Given the description of an element on the screen output the (x, y) to click on. 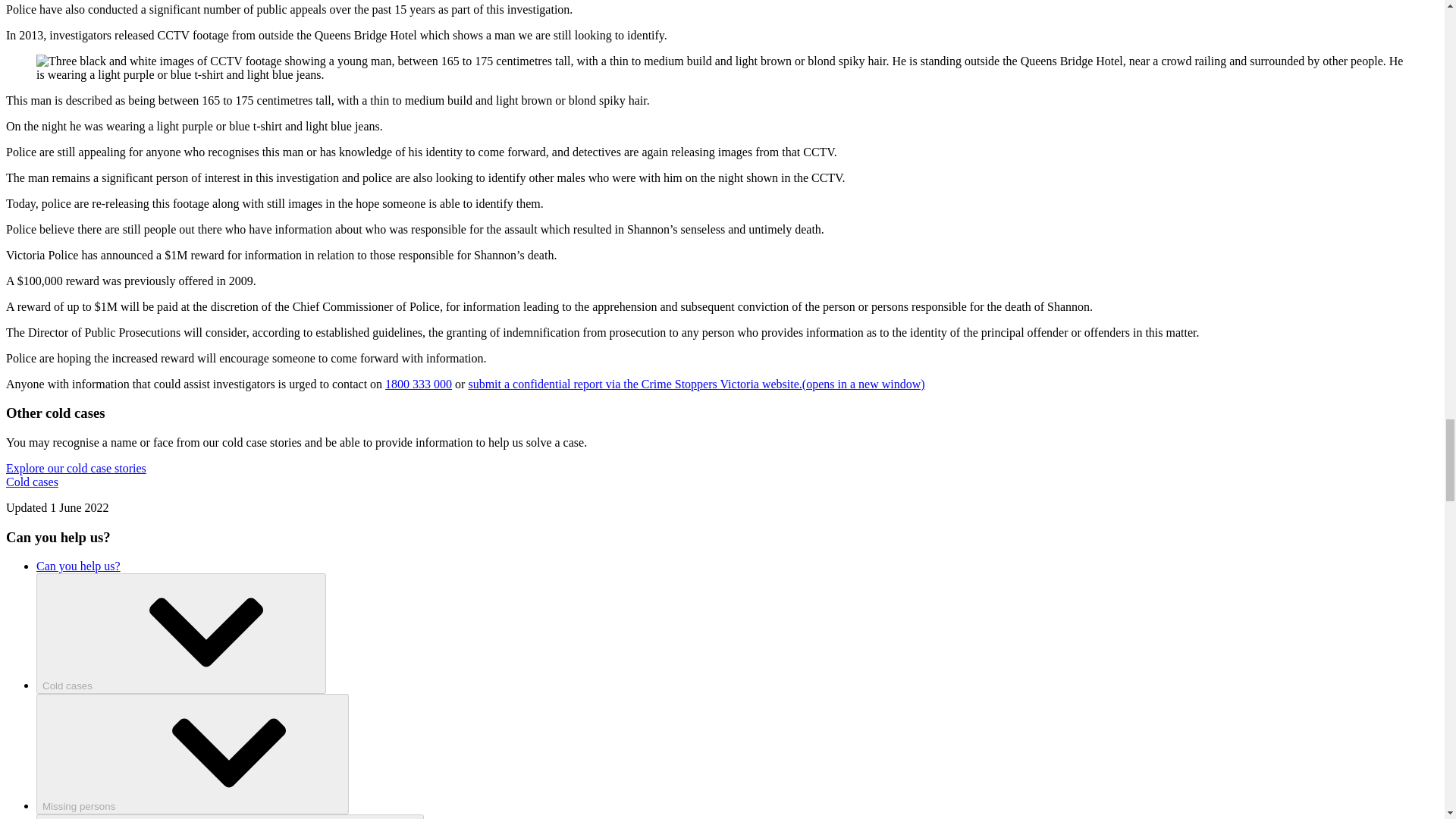
Explore our cold case stories (76, 468)
Can you help us? (78, 565)
Missing registered sex offenders (229, 816)
Cold cases (31, 481)
Missing persons (192, 753)
1800 333 000 (418, 383)
Cold cases (181, 633)
